Given the description of an element on the screen output the (x, y) to click on. 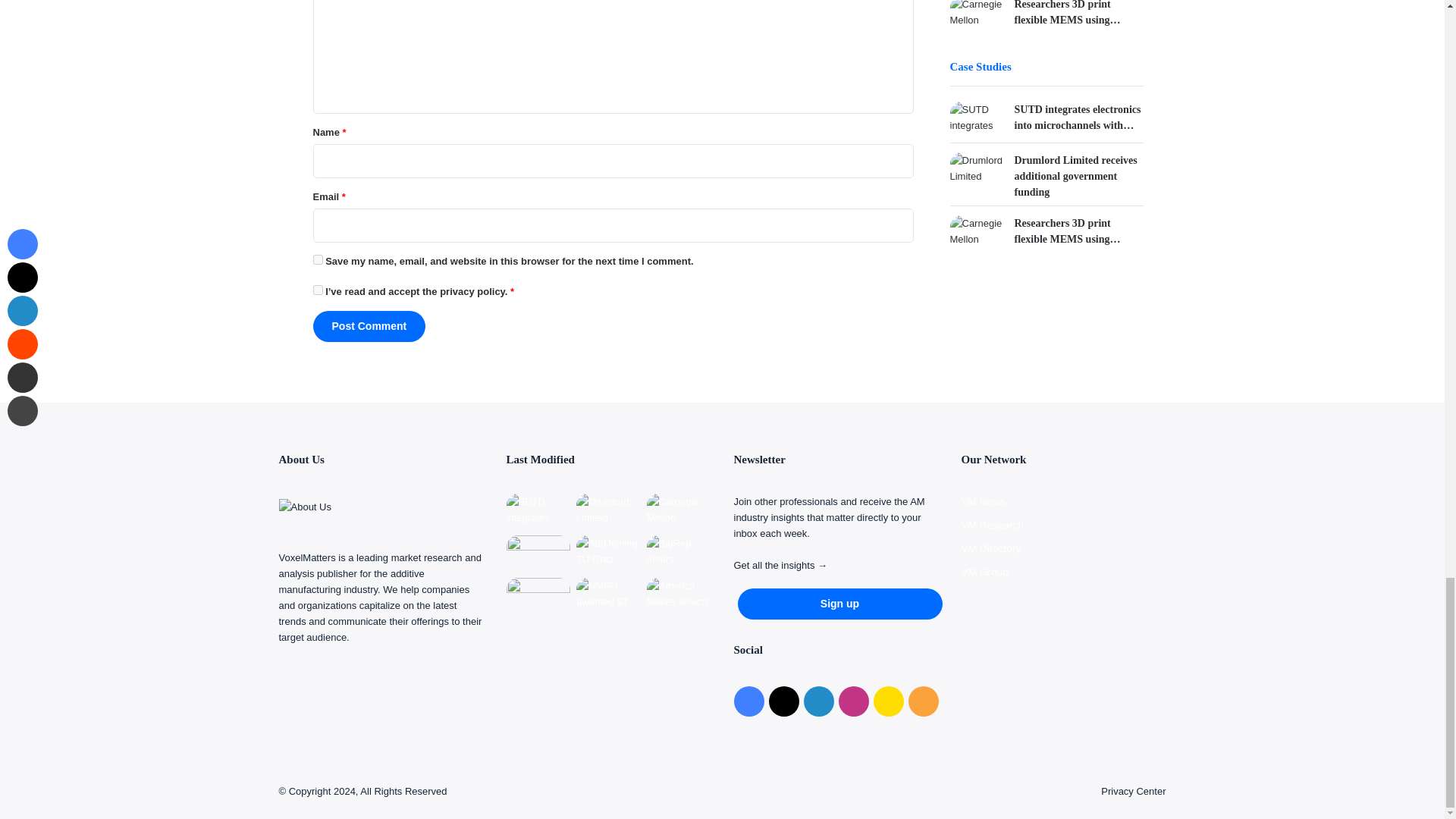
on (317, 289)
yes (317, 259)
Sign up (839, 603)
Post Comment (369, 326)
